Given the description of an element on the screen output the (x, y) to click on. 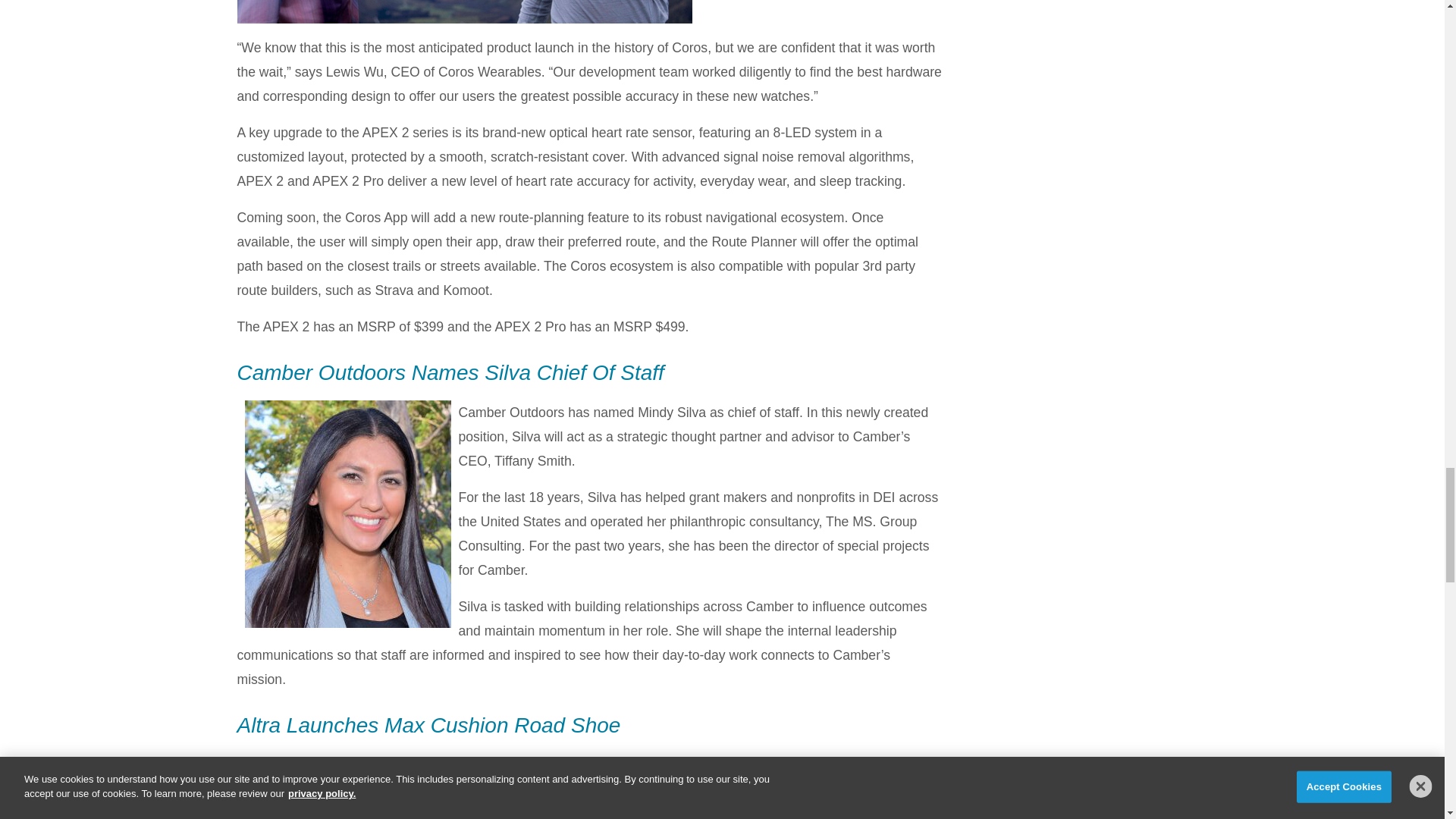
Altra Running (276, 765)
